Given the description of an element on the screen output the (x, y) to click on. 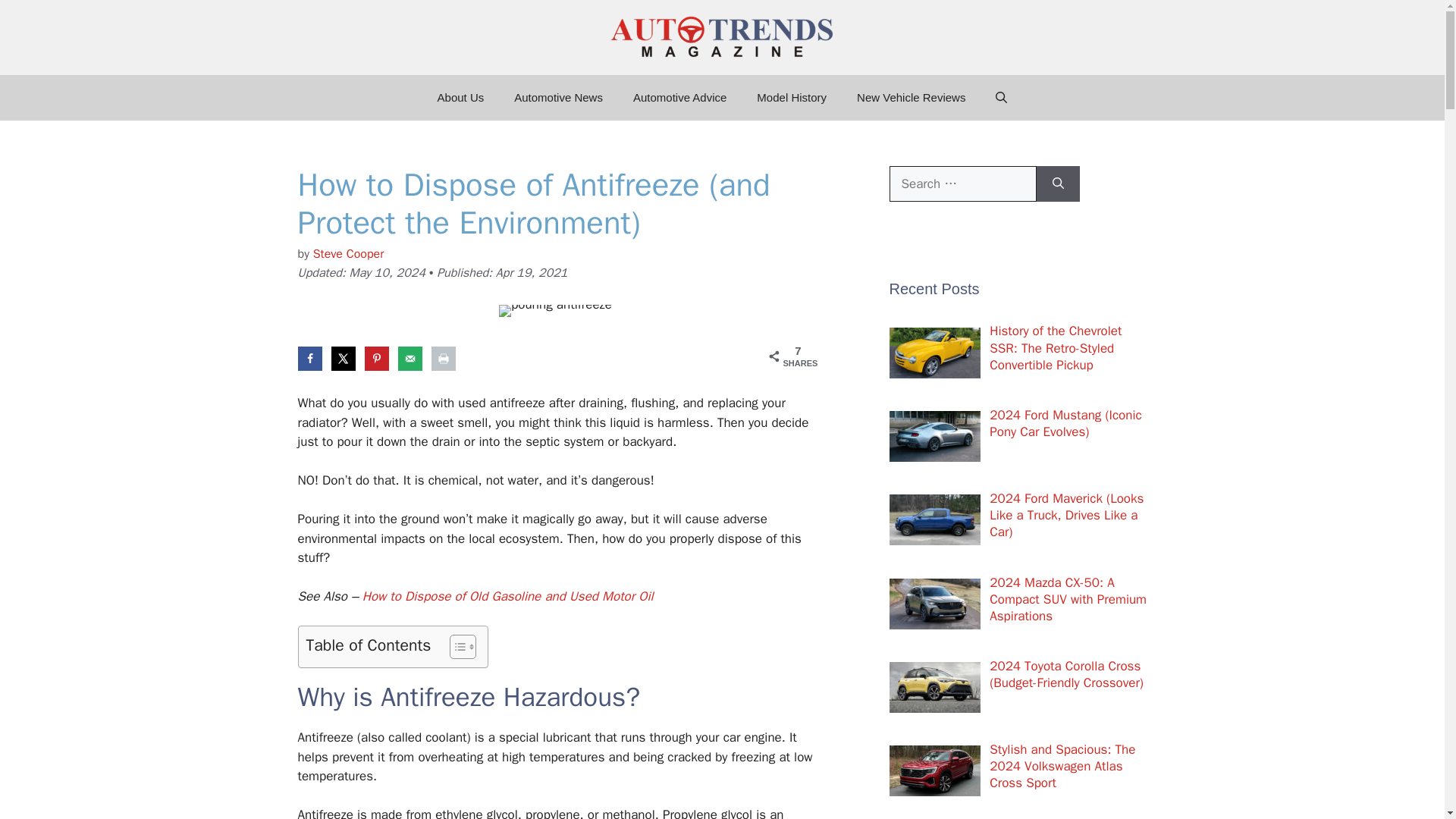
Model History (791, 97)
Share on Facebook (309, 358)
Save to Pinterest (376, 358)
View all posts by Steve Cooper (348, 253)
Share on X (343, 358)
Print this webpage (442, 358)
Steve Cooper (348, 253)
Automotive News (558, 97)
How to Dispose of Old Gasoline and Used Motor Oil (507, 596)
New Vehicle Reviews (910, 97)
Automotive Advice (679, 97)
About Us (460, 97)
Send over email (409, 358)
